Given the description of an element on the screen output the (x, y) to click on. 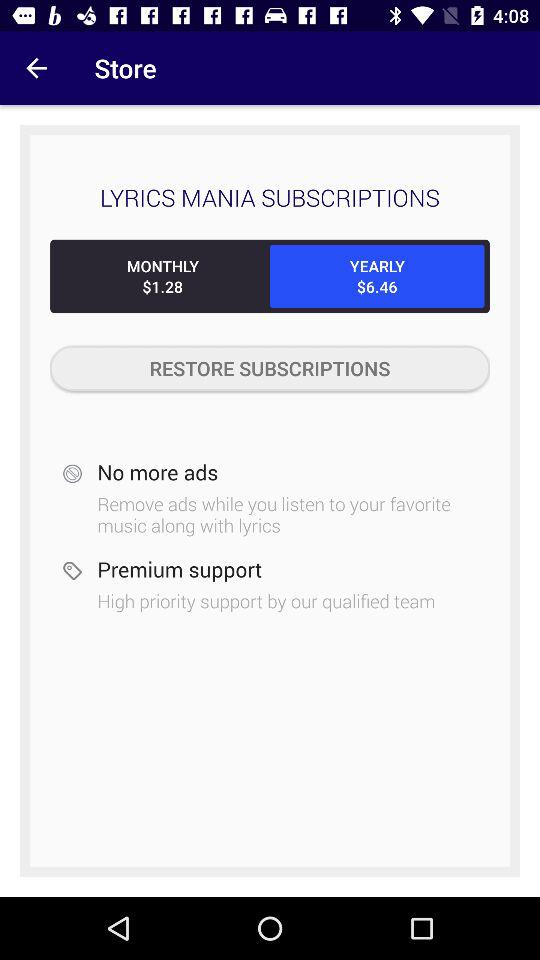
open item above restore subscriptions icon (377, 275)
